Given the description of an element on the screen output the (x, y) to click on. 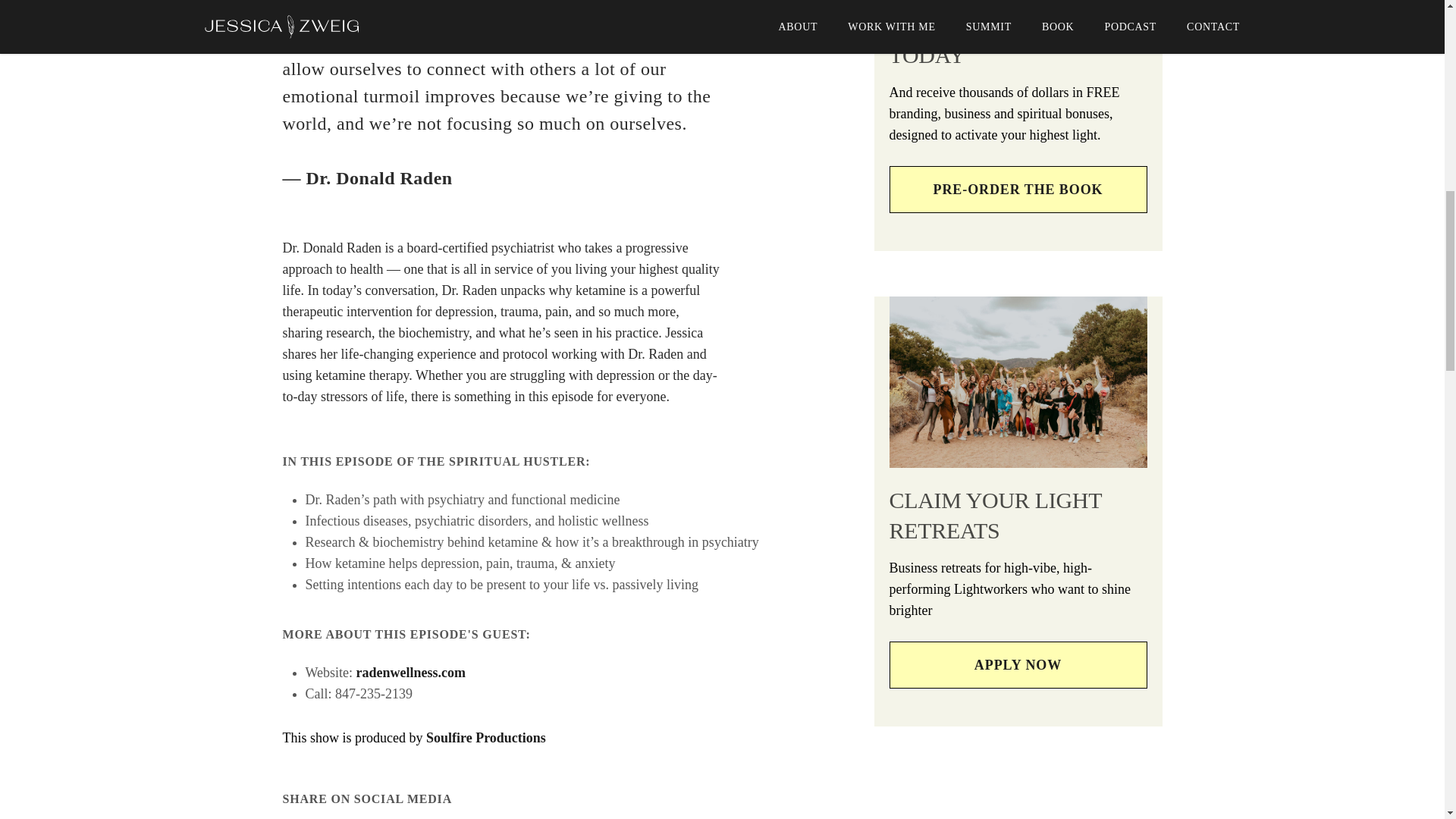
APPLY NOW (1017, 664)
PRE-ORDER THE BOOK (1017, 188)
Soulfire Productions (486, 737)
radenwellness.com (410, 672)
